Given the description of an element on the screen output the (x, y) to click on. 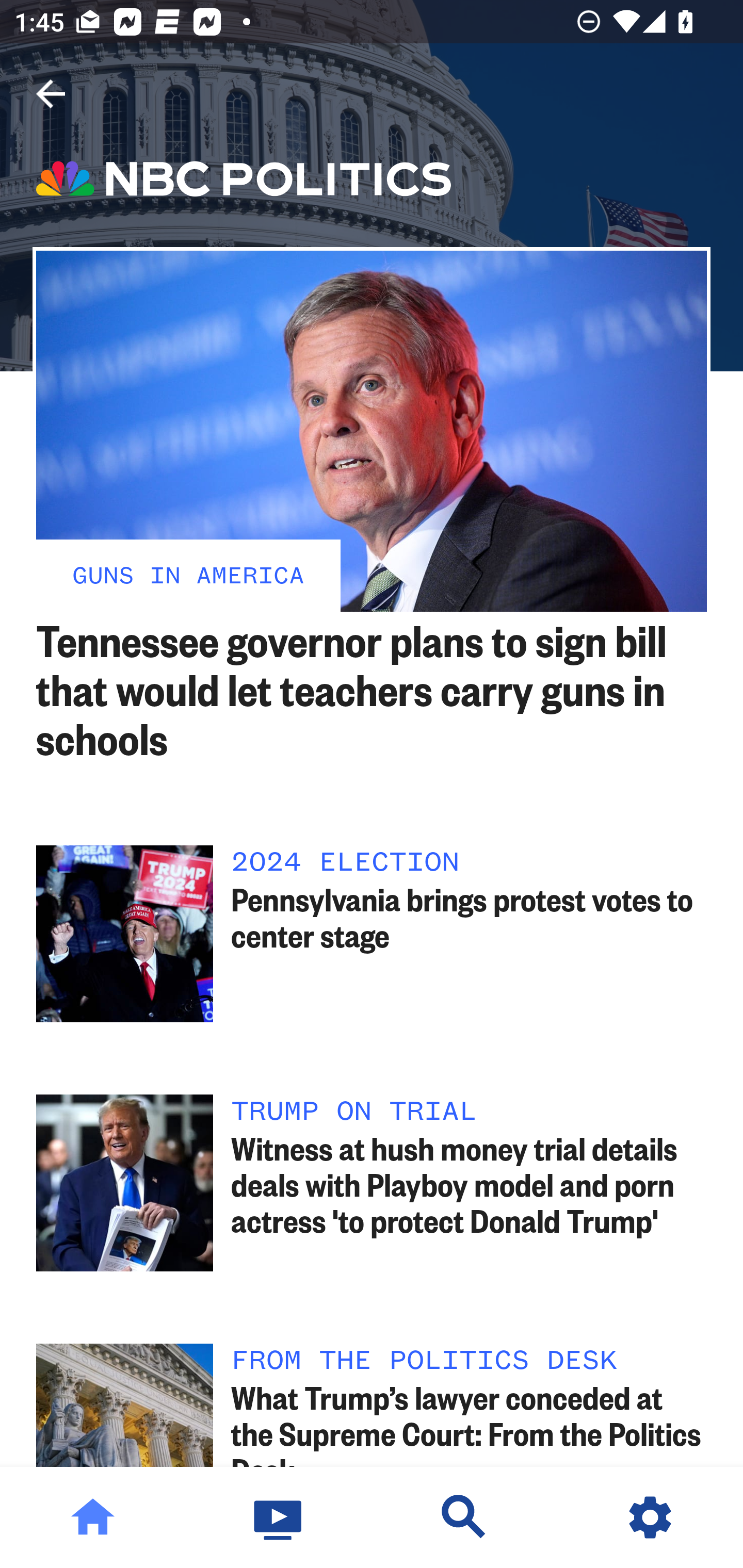
Navigate up (50, 93)
Watch (278, 1517)
Discover (464, 1517)
Settings (650, 1517)
